Given the description of an element on the screen output the (x, y) to click on. 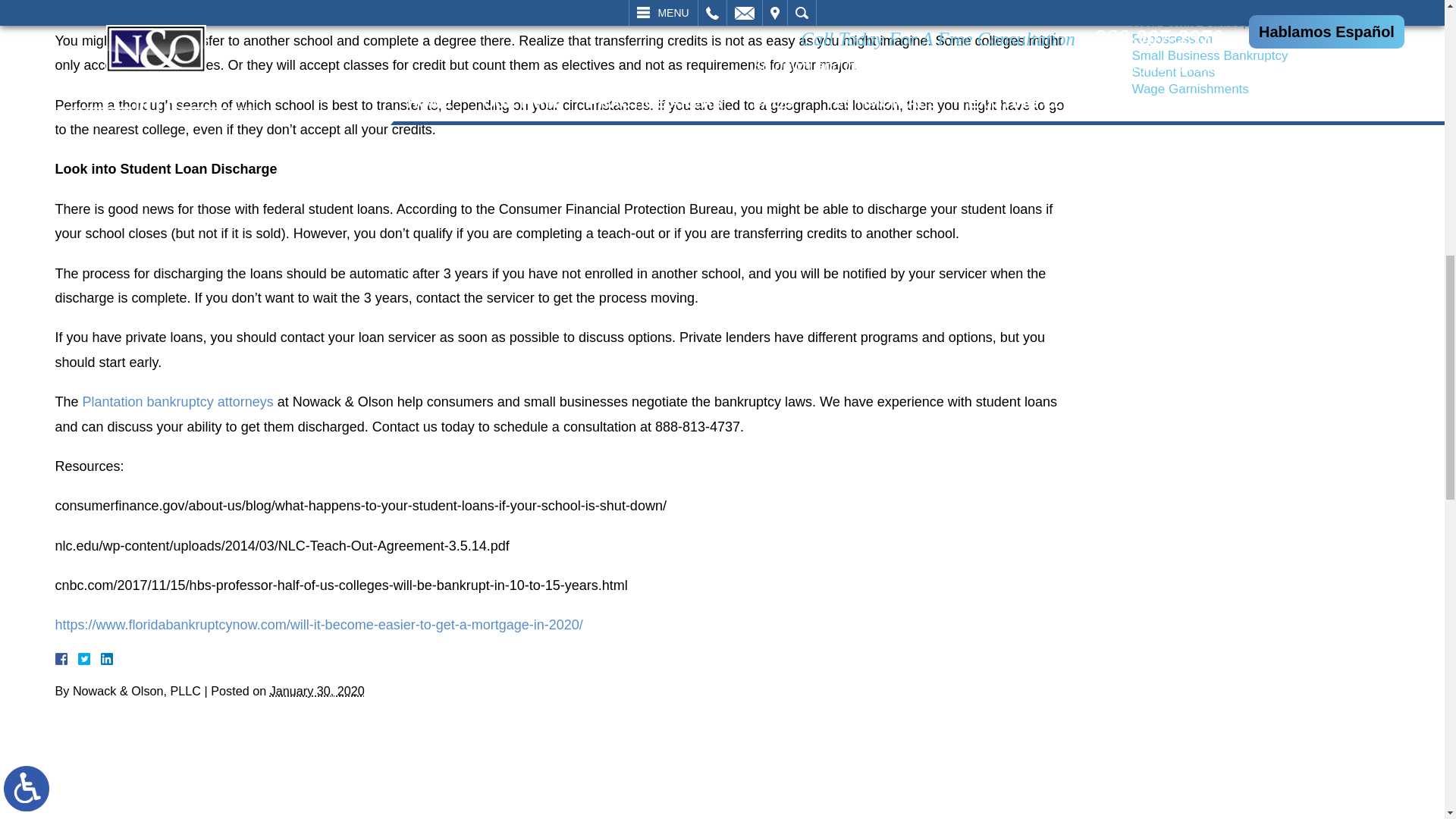
Twitter (89, 658)
Facebook (79, 658)
2020-01-30T03:00:36-0800 (317, 690)
LinkedIn (99, 658)
